Given the description of an element on the screen output the (x, y) to click on. 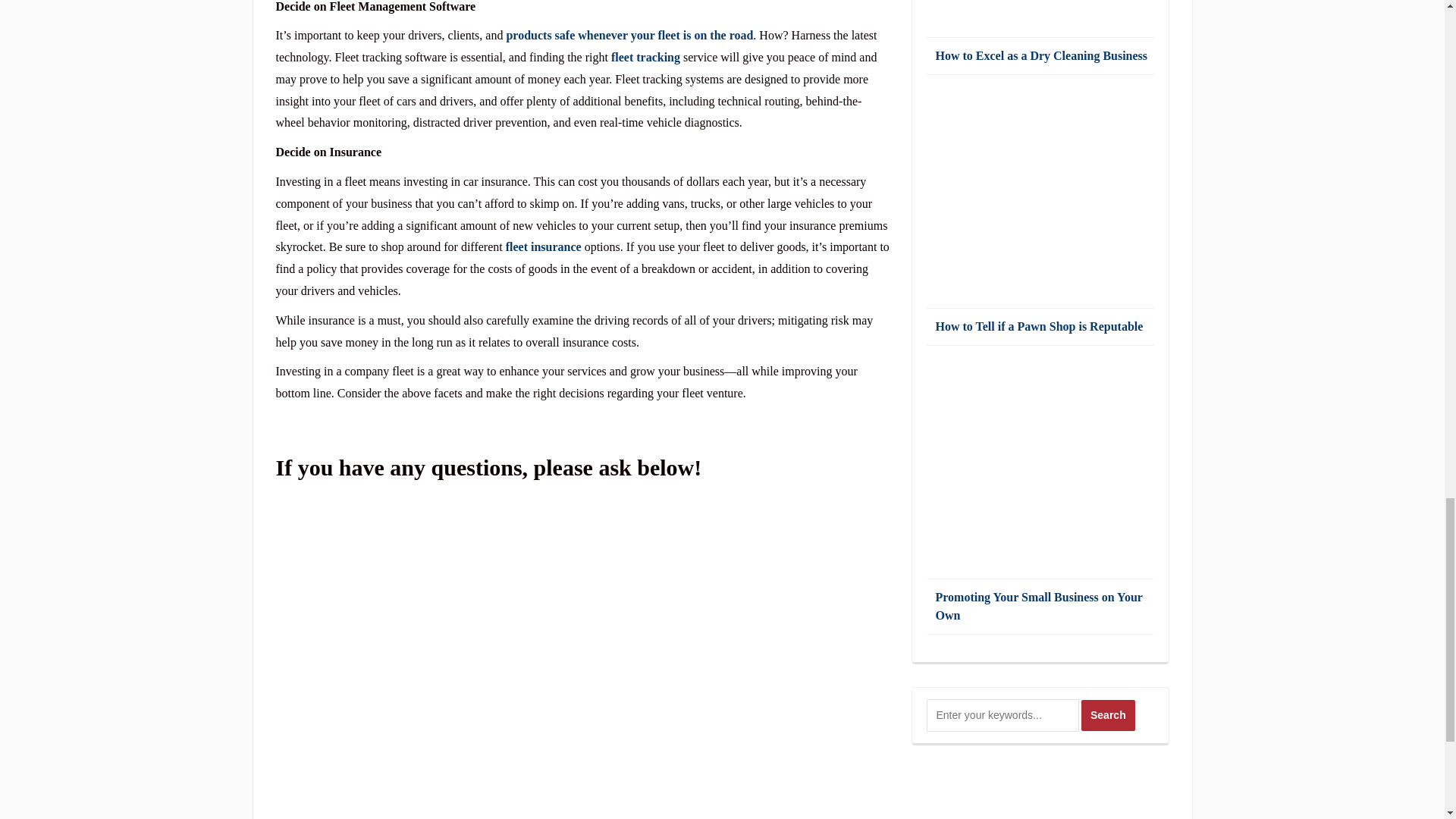
Search (1108, 715)
Search (1108, 715)
